Given the description of an element on the screen output the (x, y) to click on. 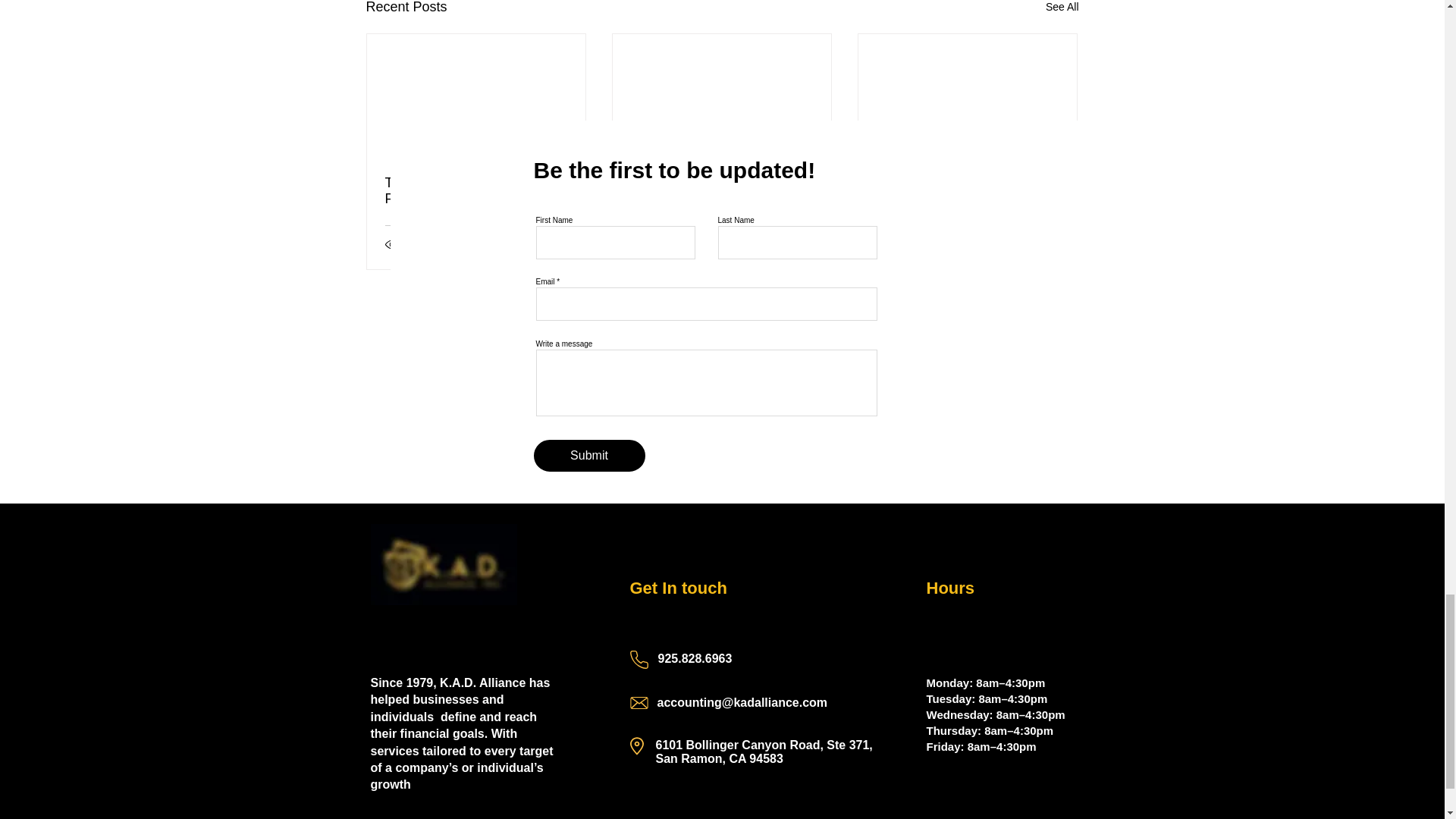
10 Differences Between Bookkeeping and Accounting (721, 191)
0 (931, 243)
See All (1061, 9)
Financial Audit Services in the San Francisco Bay Area (967, 191)
Post not marked as liked (558, 244)
0 (435, 243)
0 (685, 243)
Post not marked as liked (804, 244)
